Given the description of an element on the screen output the (x, y) to click on. 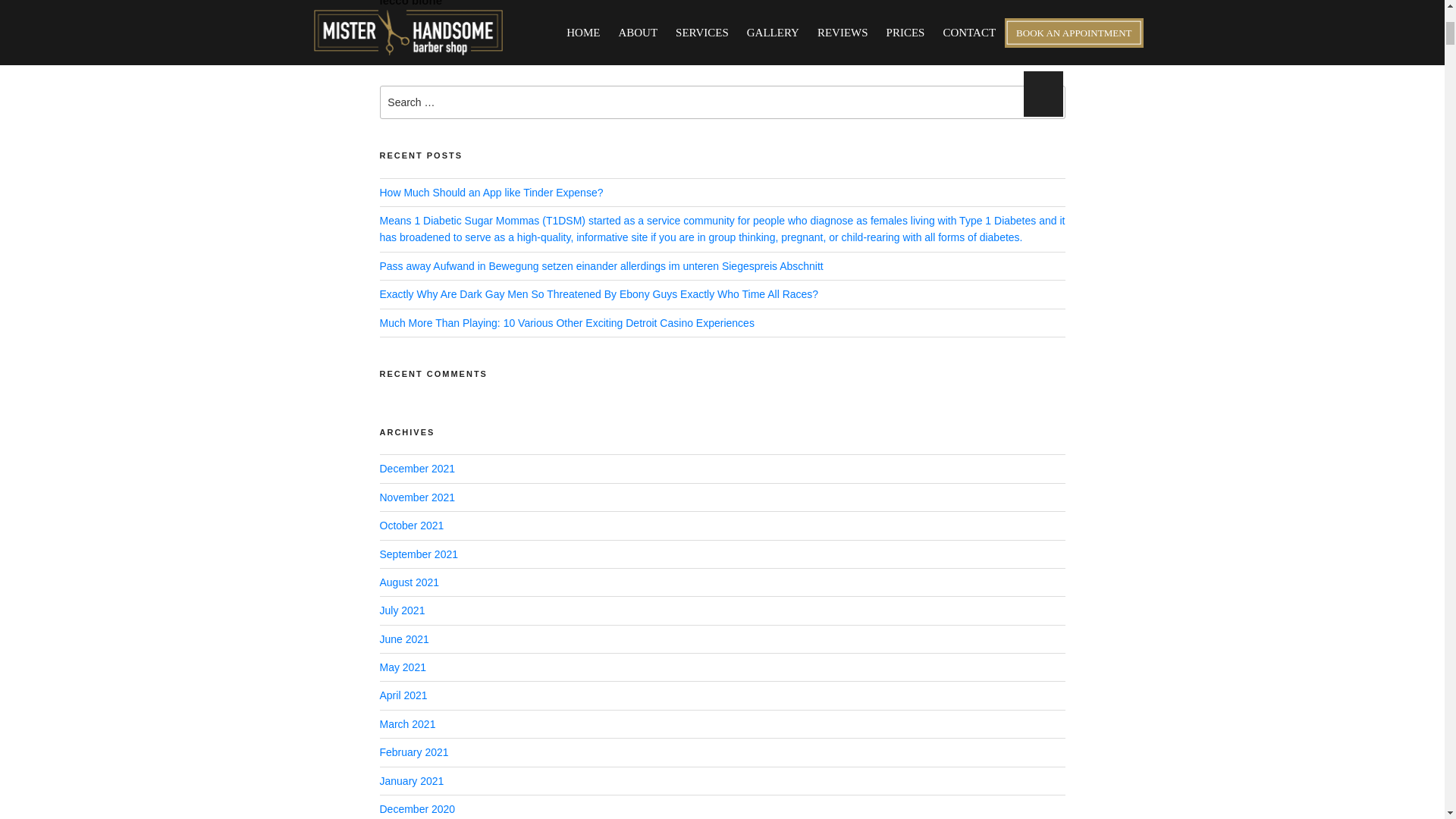
April 2021 (402, 695)
May 2021 (401, 666)
December 2020 (416, 808)
March 2021 (406, 724)
July 2021 (401, 610)
How Much Should an App like Tinder Expense? (490, 192)
February 2021 (413, 752)
November 2021 (416, 497)
October 2021 (411, 525)
